Given the description of an element on the screen output the (x, y) to click on. 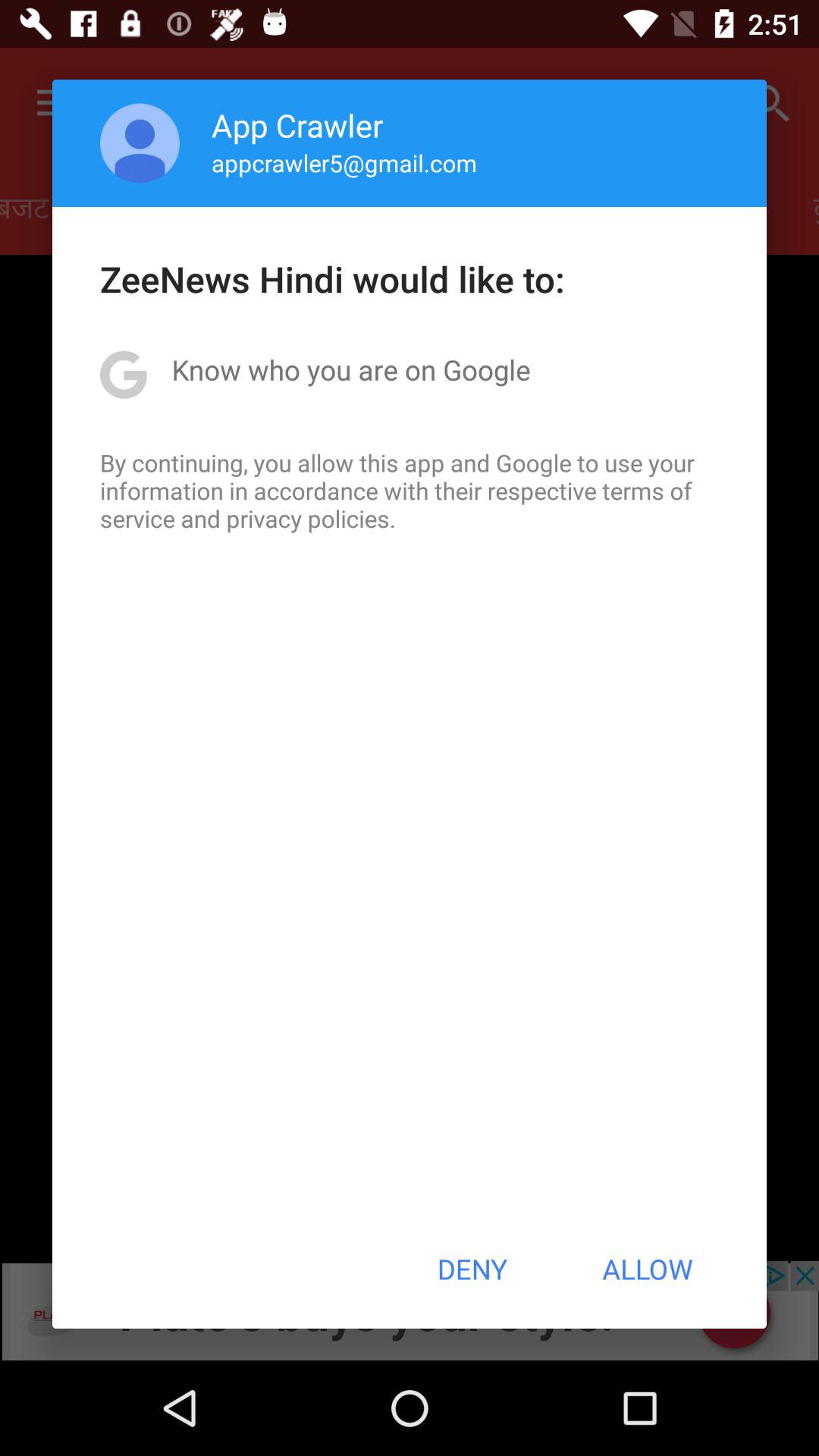
open item below the app crawler (344, 162)
